Given the description of an element on the screen output the (x, y) to click on. 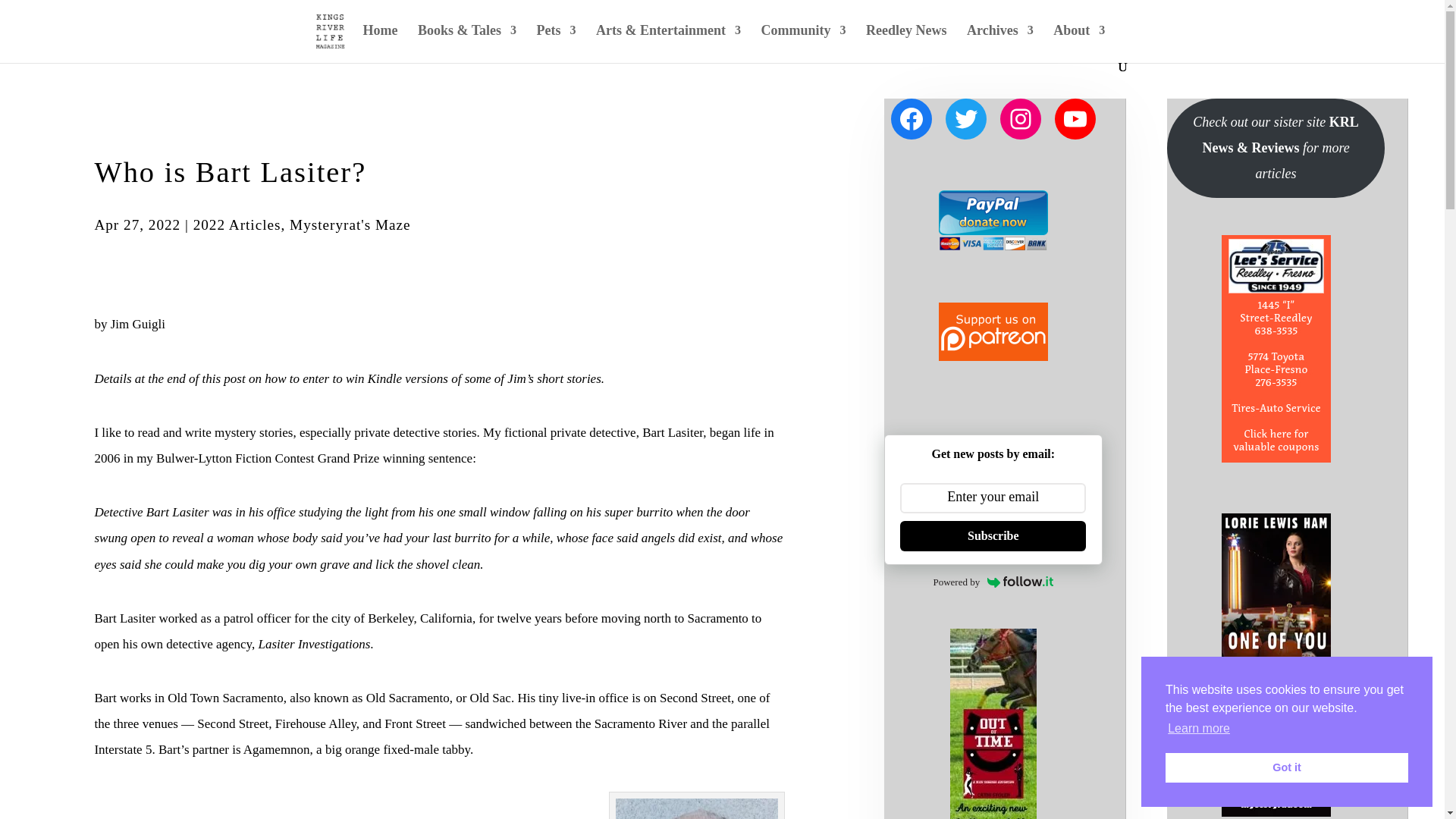
Reedley News (906, 42)
Archives (999, 42)
Home (379, 42)
Community (802, 42)
Pets (556, 42)
